Given the description of an element on the screen output the (x, y) to click on. 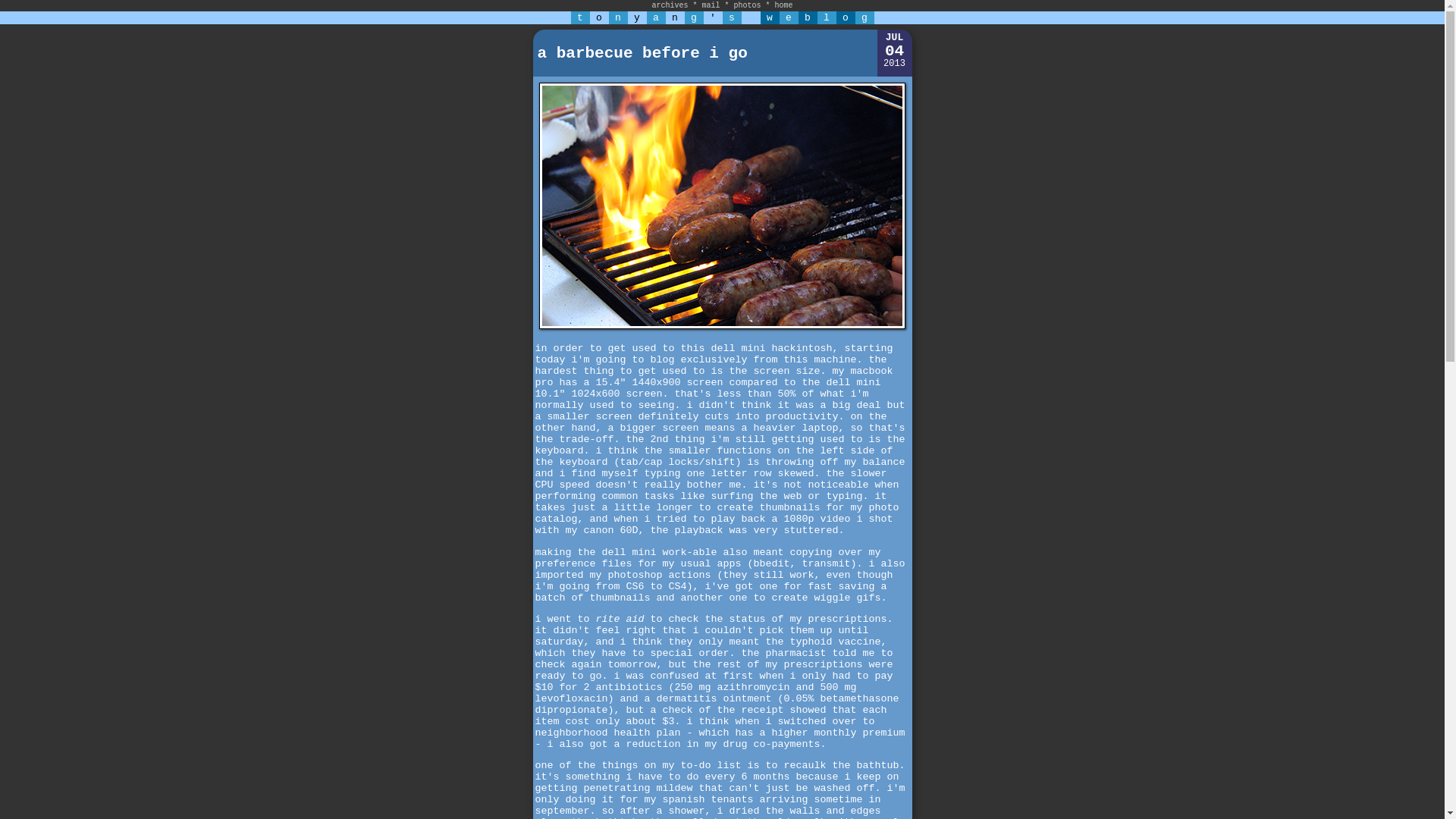
flame-broiled italian sausages (721, 329)
a barbecue before i go (641, 52)
photos (747, 5)
home (783, 5)
mail (710, 5)
